Given the description of an element on the screen output the (x, y) to click on. 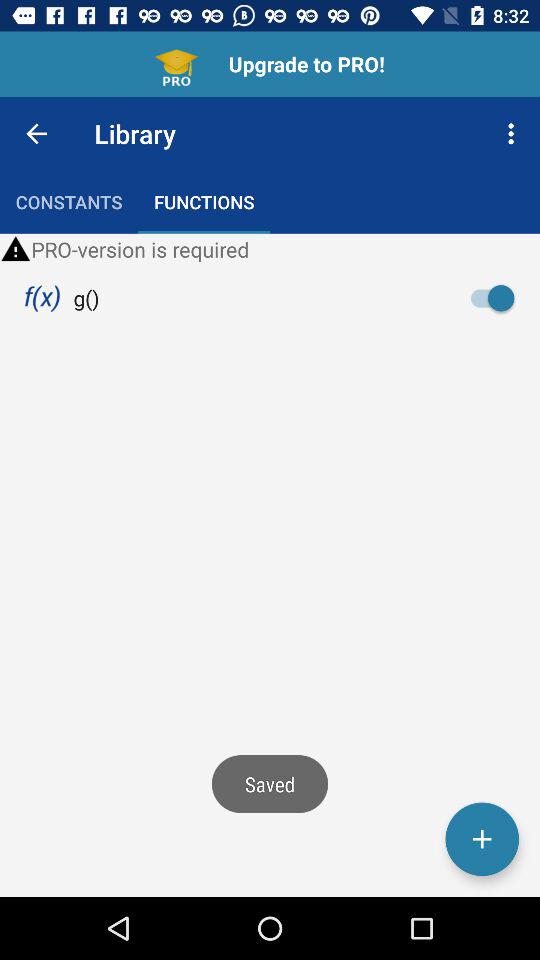
select pro version is item (270, 249)
